Given the description of an element on the screen output the (x, y) to click on. 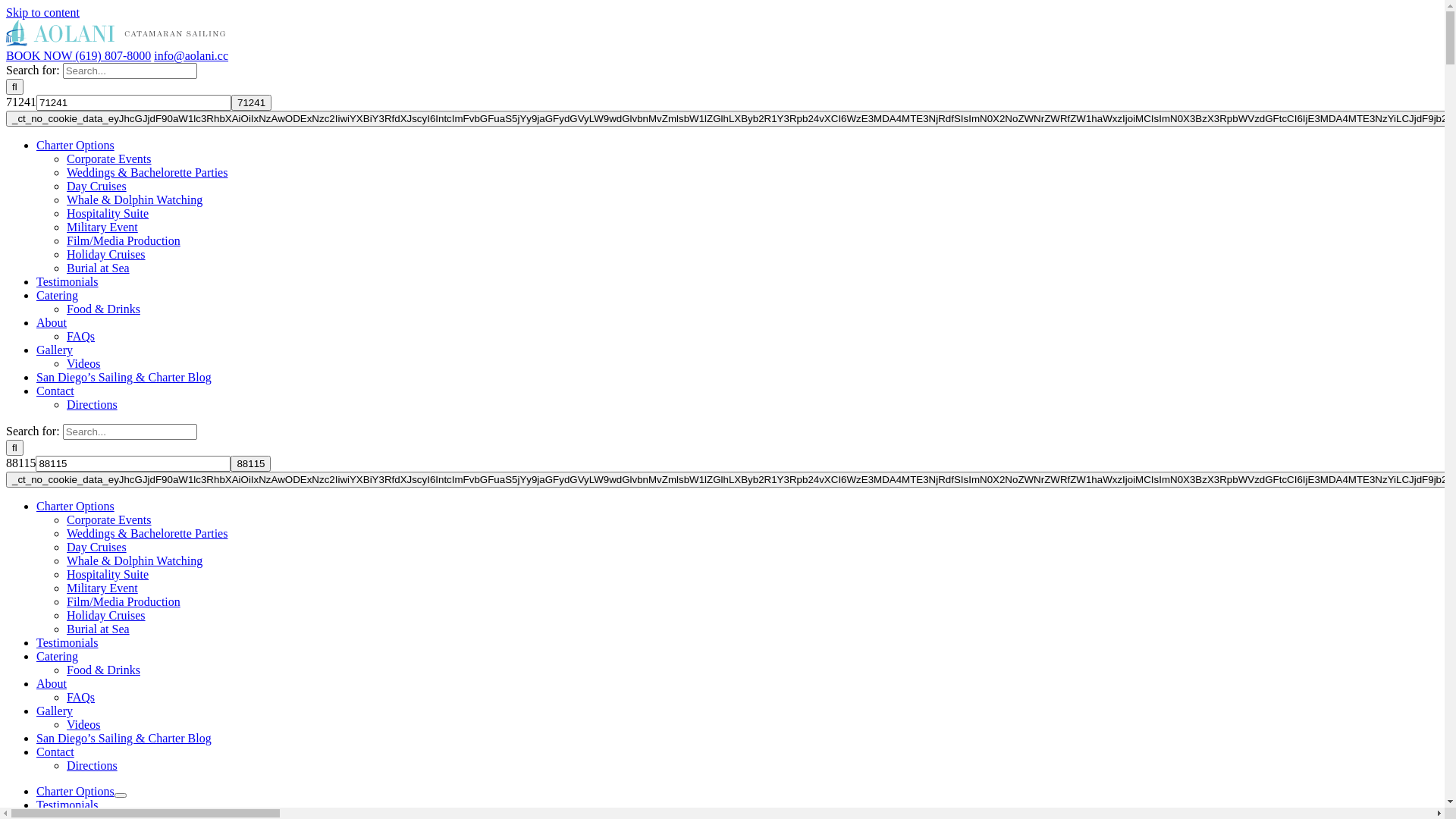
Whale & Dolphin Watching Element type: text (134, 199)
Catering Element type: text (57, 294)
Food & Drinks Element type: text (103, 669)
Burial at Sea Element type: text (97, 267)
Testimonials Element type: text (67, 804)
Catering Element type: text (57, 655)
Weddings & Bachelorette Parties Element type: text (146, 533)
Corporate Events Element type: text (108, 519)
(619) 807-8000 Element type: text (111, 55)
Skip to content Element type: text (42, 12)
Directions Element type: text (91, 404)
Directions Element type: text (91, 765)
Film/Media Production Element type: text (123, 601)
Food & Drinks Element type: text (103, 308)
71241 Element type: text (251, 102)
Military Event Element type: text (102, 226)
FAQs Element type: text (80, 335)
Film/Media Production Element type: text (123, 240)
info@aolani.cc Element type: text (190, 55)
Contact Element type: text (55, 390)
Hospitality Suite Element type: text (107, 573)
Contact Element type: text (55, 751)
About Element type: text (51, 322)
Gallery Element type: text (54, 349)
Charter Options Element type: text (75, 144)
Testimonials Element type: text (67, 642)
Videos Element type: text (83, 724)
Day Cruises Element type: text (96, 546)
Charter Options Element type: text (75, 790)
Holiday Cruises Element type: text (105, 253)
About Element type: text (51, 683)
Hospitality Suite Element type: text (107, 213)
Weddings & Bachelorette Parties Element type: text (146, 172)
Gallery Element type: text (54, 710)
88115 Element type: text (250, 463)
BOOK NOW Element type: text (39, 55)
Burial at Sea Element type: text (97, 628)
Charter Options Element type: text (75, 505)
FAQs Element type: text (80, 696)
Corporate Events Element type: text (108, 158)
Testimonials Element type: text (67, 281)
Day Cruises Element type: text (96, 185)
Videos Element type: text (83, 363)
Whale & Dolphin Watching Element type: text (134, 560)
Military Event Element type: text (102, 587)
Holiday Cruises Element type: text (105, 614)
